Given the description of an element on the screen output the (x, y) to click on. 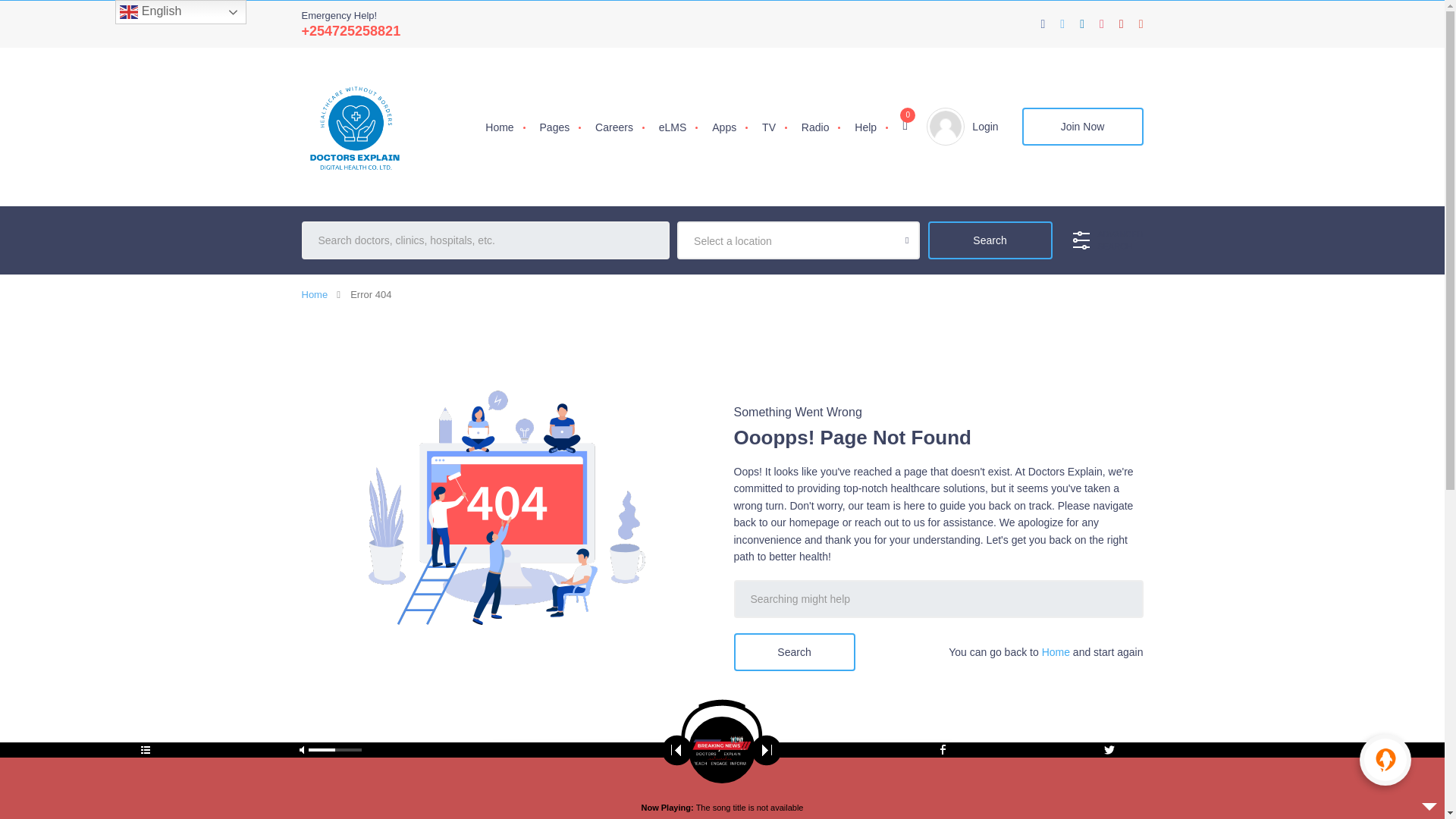
Select a location (798, 240)
Home (315, 294)
Search (990, 240)
